Given the description of an element on the screen output the (x, y) to click on. 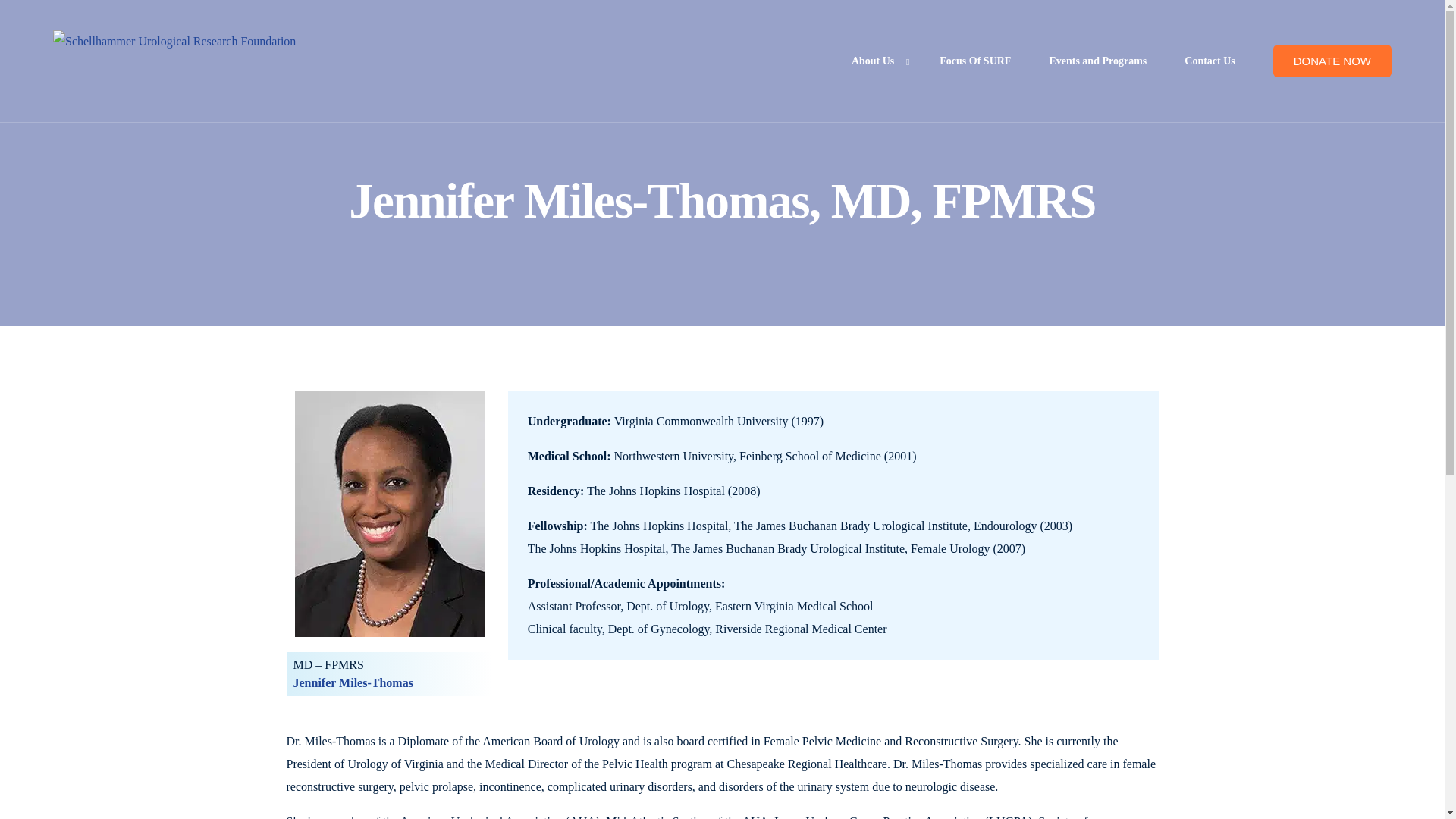
Jennifer Miles-Thomas (352, 682)
Events and Programs (1097, 61)
DONATE NOW (1331, 60)
Focus Of SURF (974, 61)
